Given the description of an element on the screen output the (x, y) to click on. 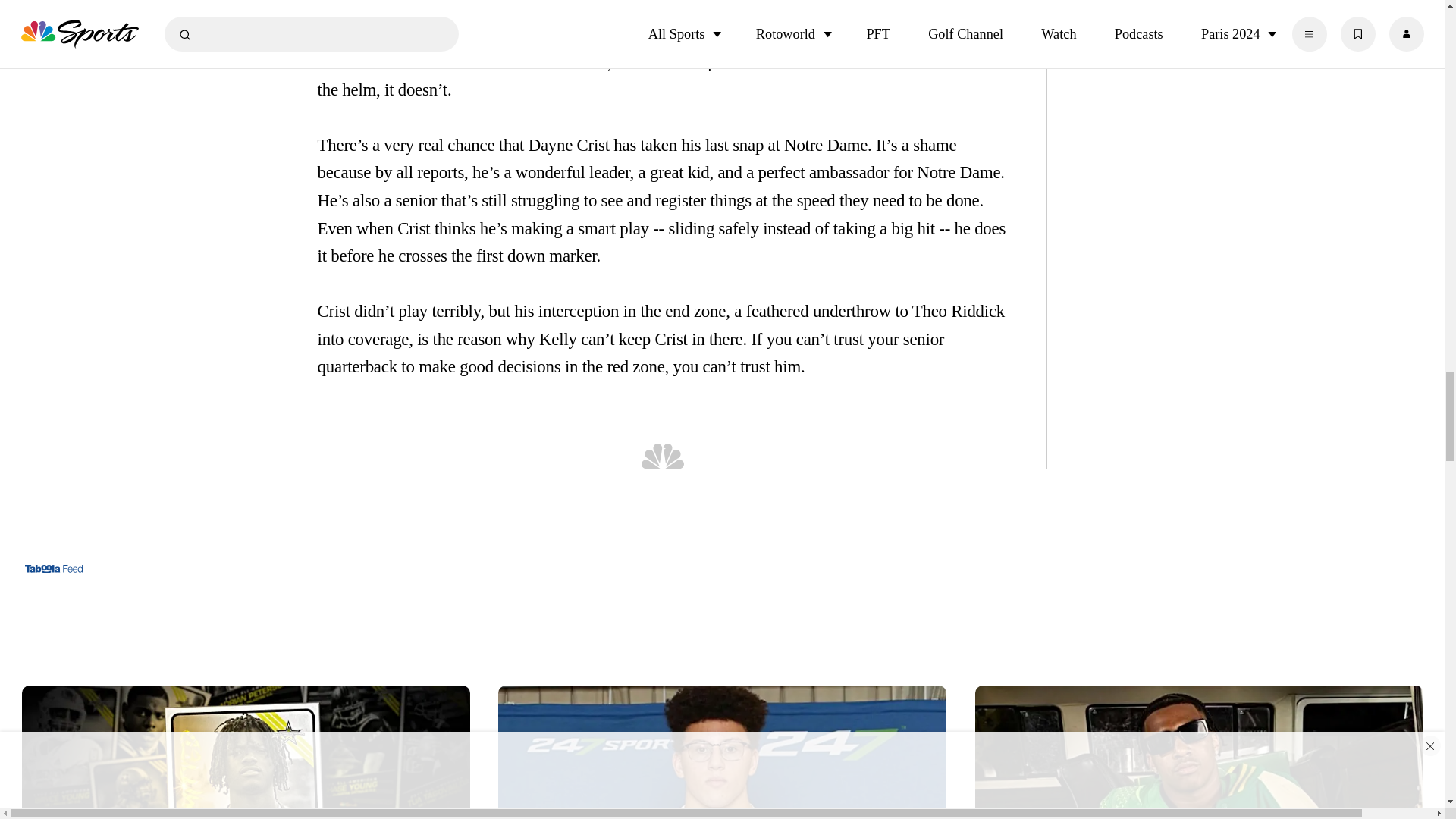
Ben Hanks Jr. Commits to 2025 All-American Bowl (245, 747)
